Given the description of an element on the screen output the (x, y) to click on. 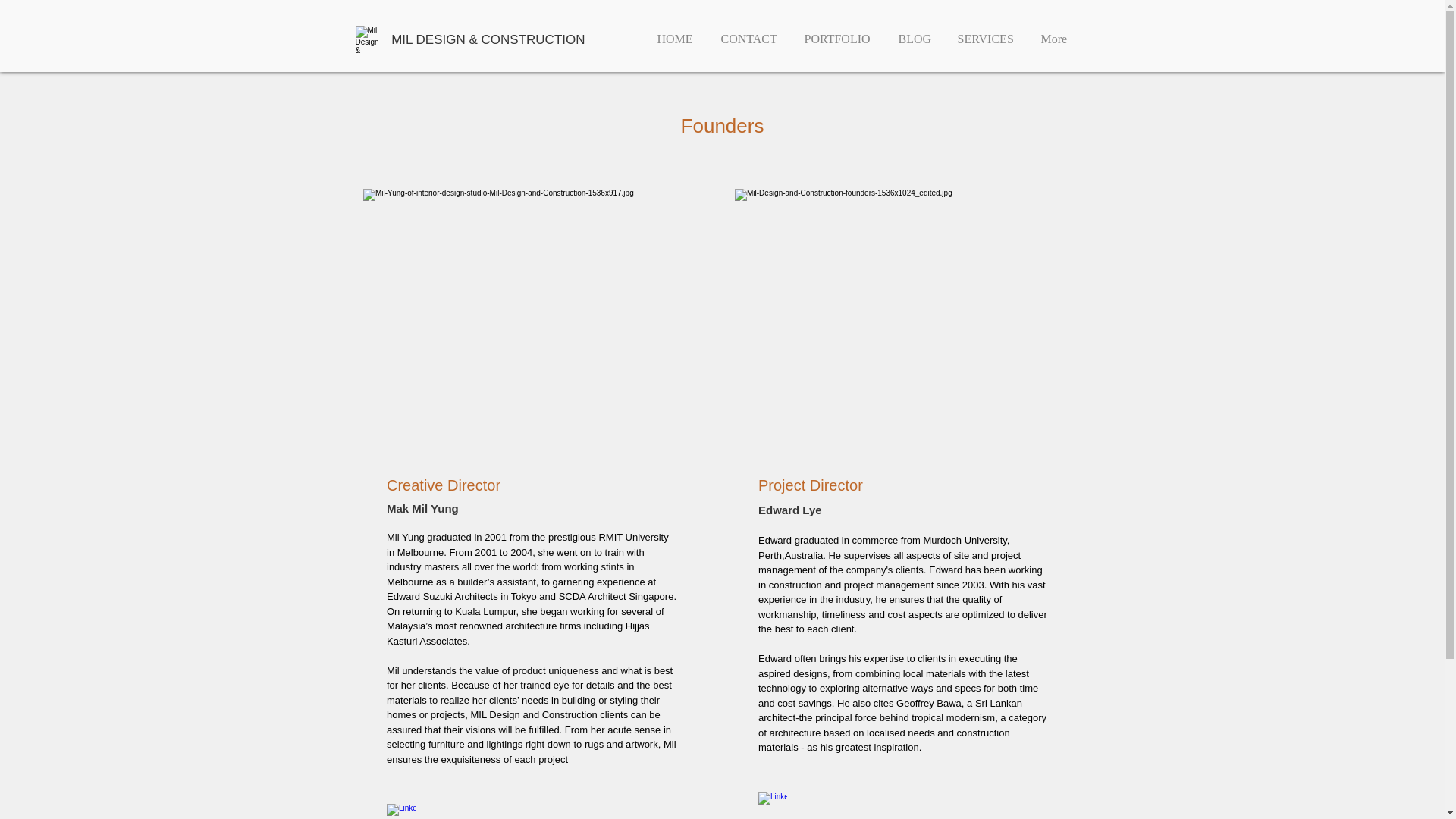
SERVICES (984, 32)
HOME (674, 32)
PORTFOLIO (836, 32)
BLOG (913, 32)
CONTACT (748, 32)
